Given the description of an element on the screen output the (x, y) to click on. 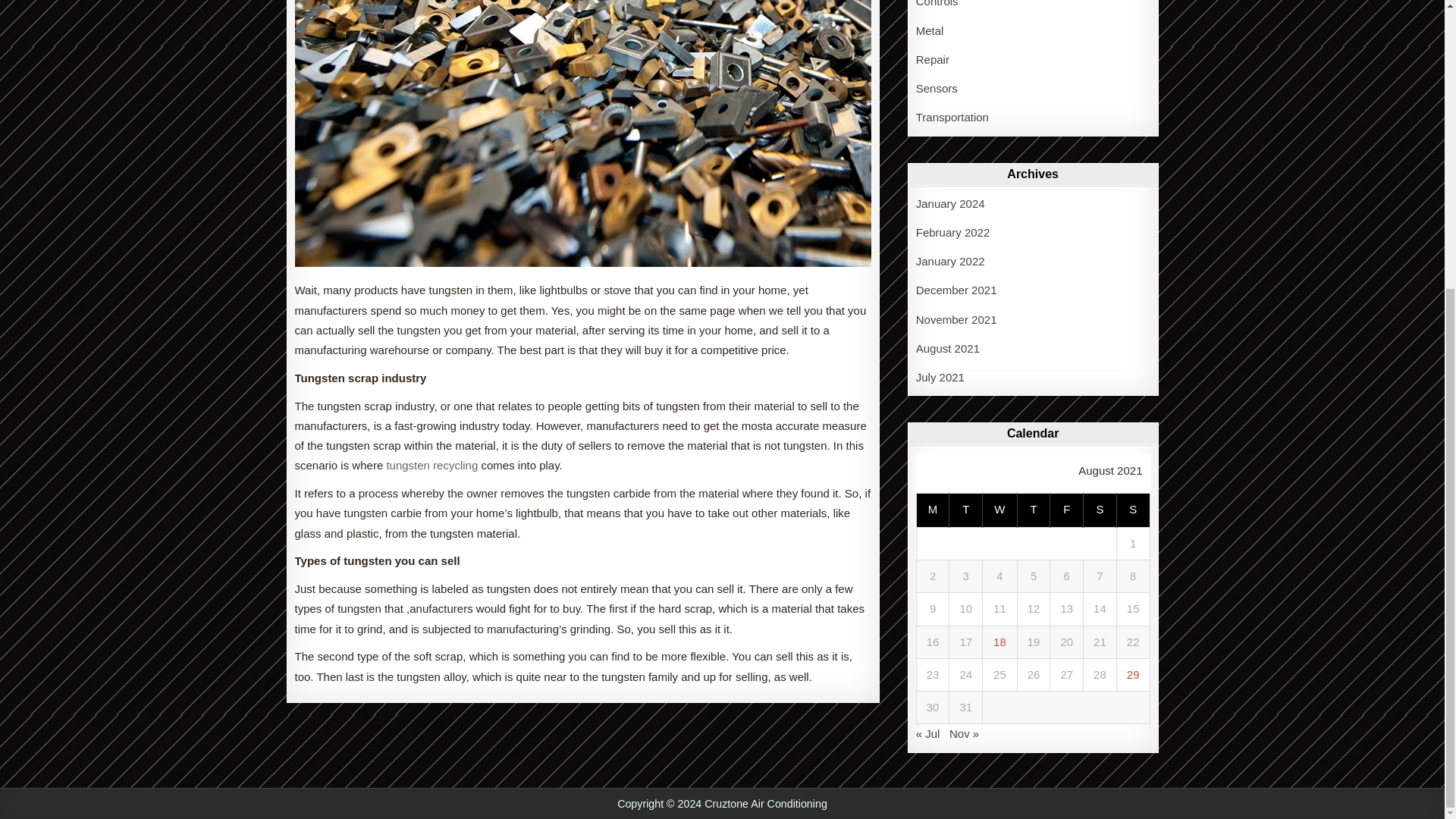
Tuesday (965, 510)
Friday (1066, 510)
July 2021 (939, 377)
Wednesday (999, 510)
Saturday (1099, 510)
November 2021 (956, 318)
January 2022 (950, 260)
Controls (936, 3)
Sunday (1133, 510)
January 2024 (950, 203)
February 2022 (952, 232)
Repair (932, 59)
Thursday (1032, 510)
29 (1133, 674)
18 (999, 641)
